Given the description of an element on the screen output the (x, y) to click on. 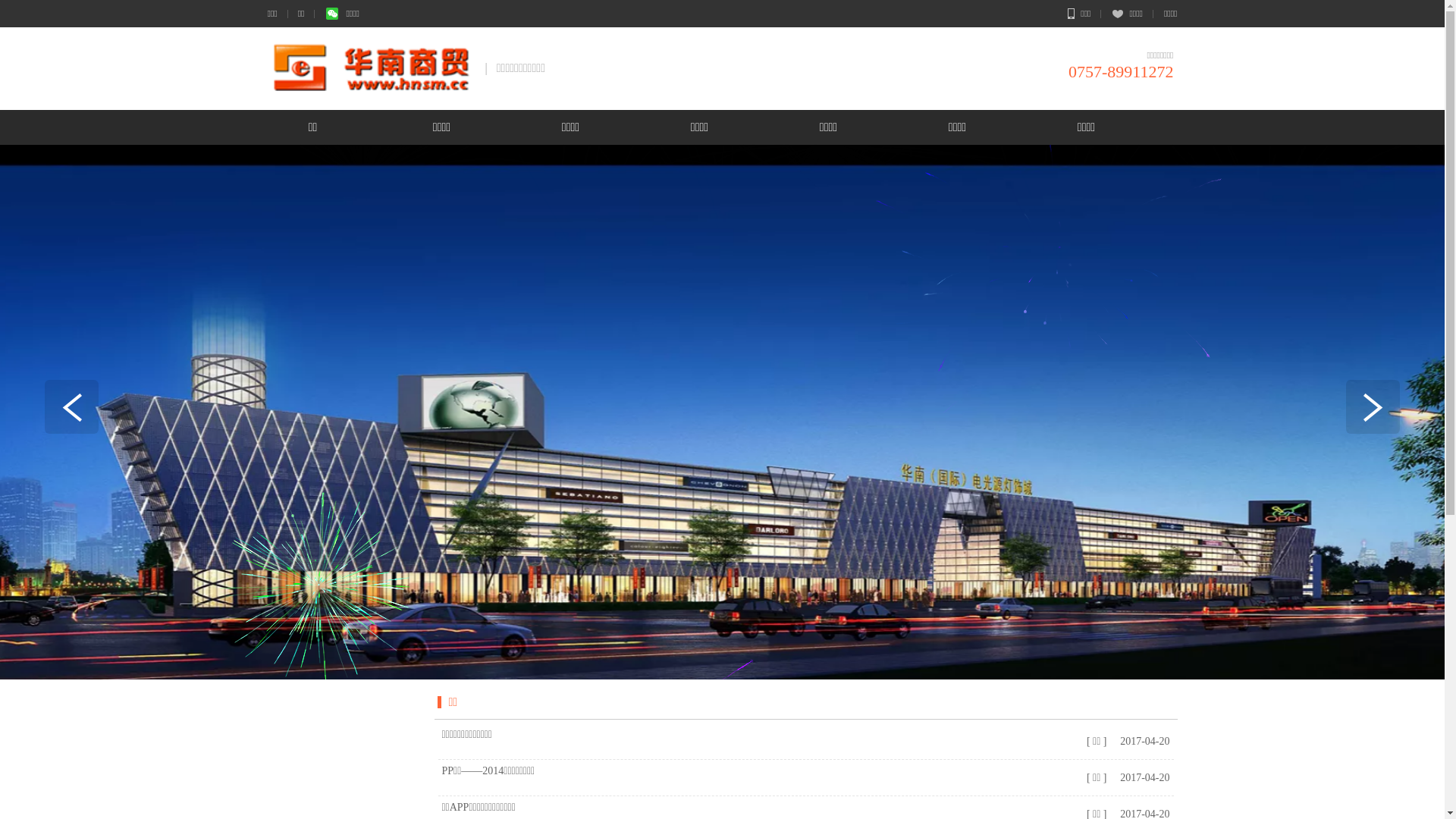
2017-04-20 Element type: text (1142, 777)
2017-04-20 Element type: text (1142, 740)
